Given the description of an element on the screen output the (x, y) to click on. 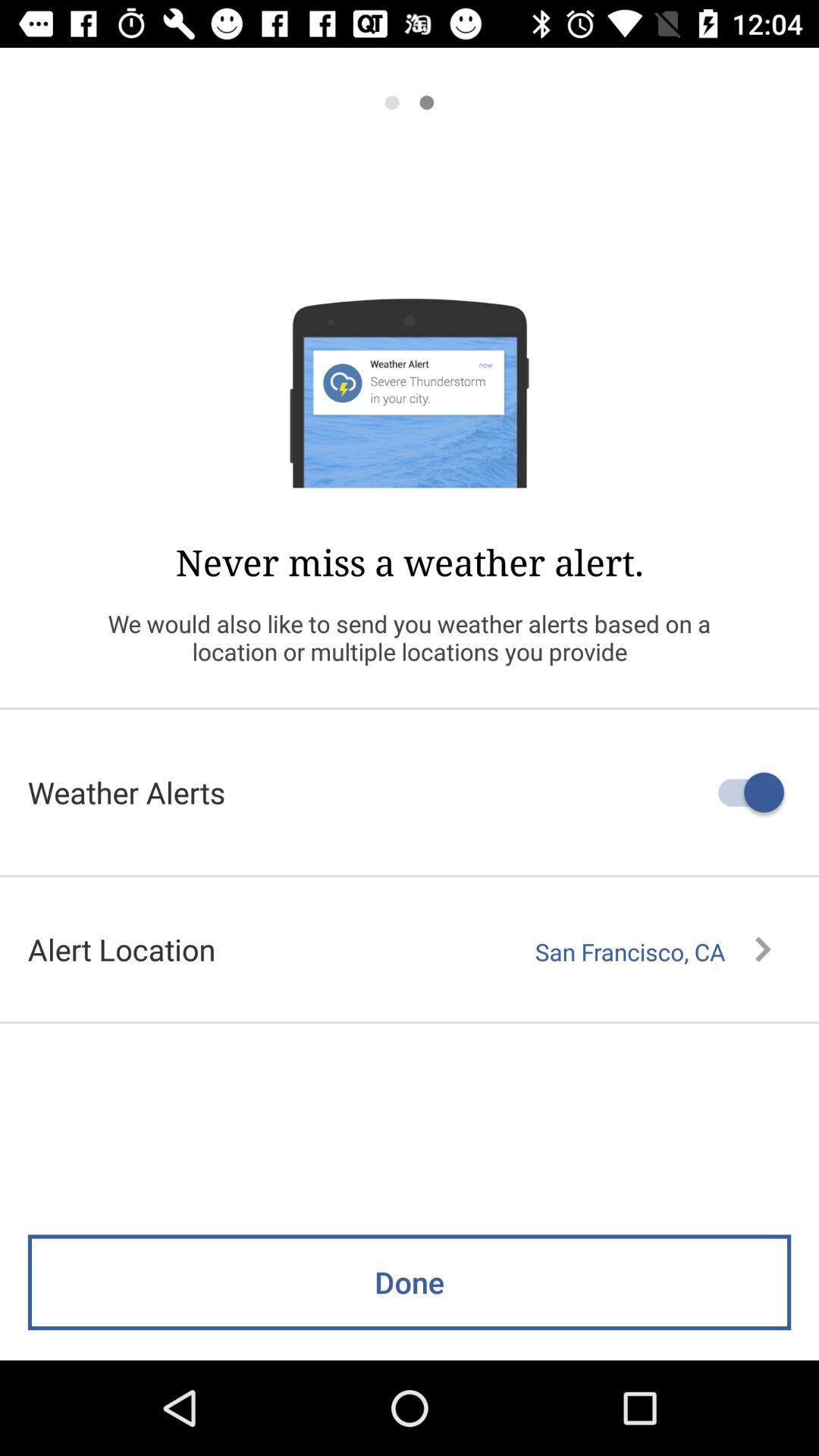
jump until the san francisco, ca icon (653, 951)
